Given the description of an element on the screen output the (x, y) to click on. 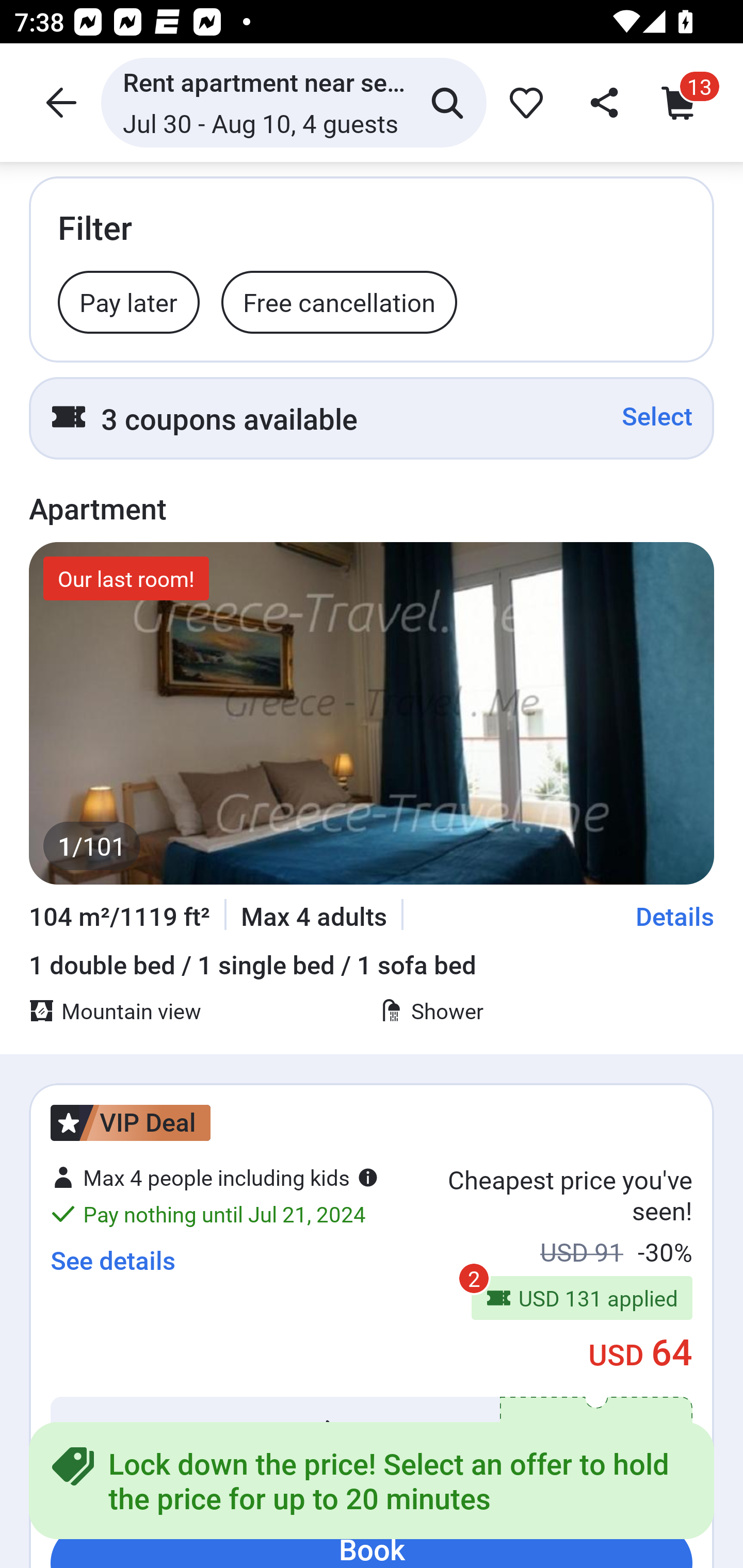
header icon (59, 102)
favorite_icon 0dbe6efb (522, 102)
share_header_icon (601, 102)
Cart icon cart_item_count 13 (683, 102)
Pay later (128, 301)
Free cancellation (338, 301)
Select (656, 416)
3 coupons available Select (371, 417)
image (371, 713)
Details (674, 916)
Max 4 people including kids (214, 1177)
See details (112, 1259)
